Given the description of an element on the screen output the (x, y) to click on. 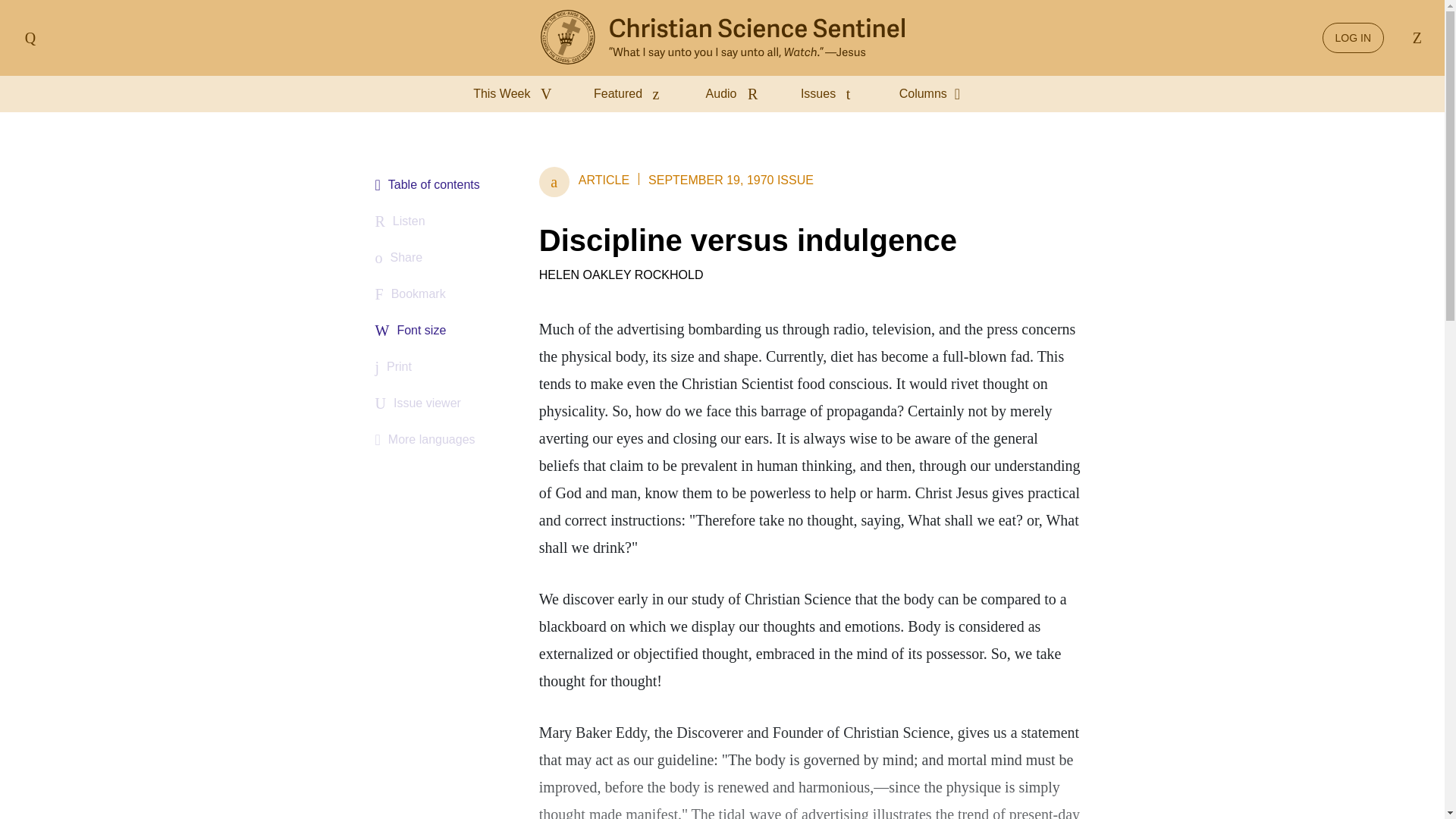
Featured (631, 94)
Search Modal (1414, 37)
This Week (515, 94)
This Week (515, 94)
Issues (831, 94)
Audio (735, 94)
Christian Science Sentinel (722, 37)
Columns (934, 94)
Audio (735, 94)
LOG IN (1353, 37)
